Given the description of an element on the screen output the (x, y) to click on. 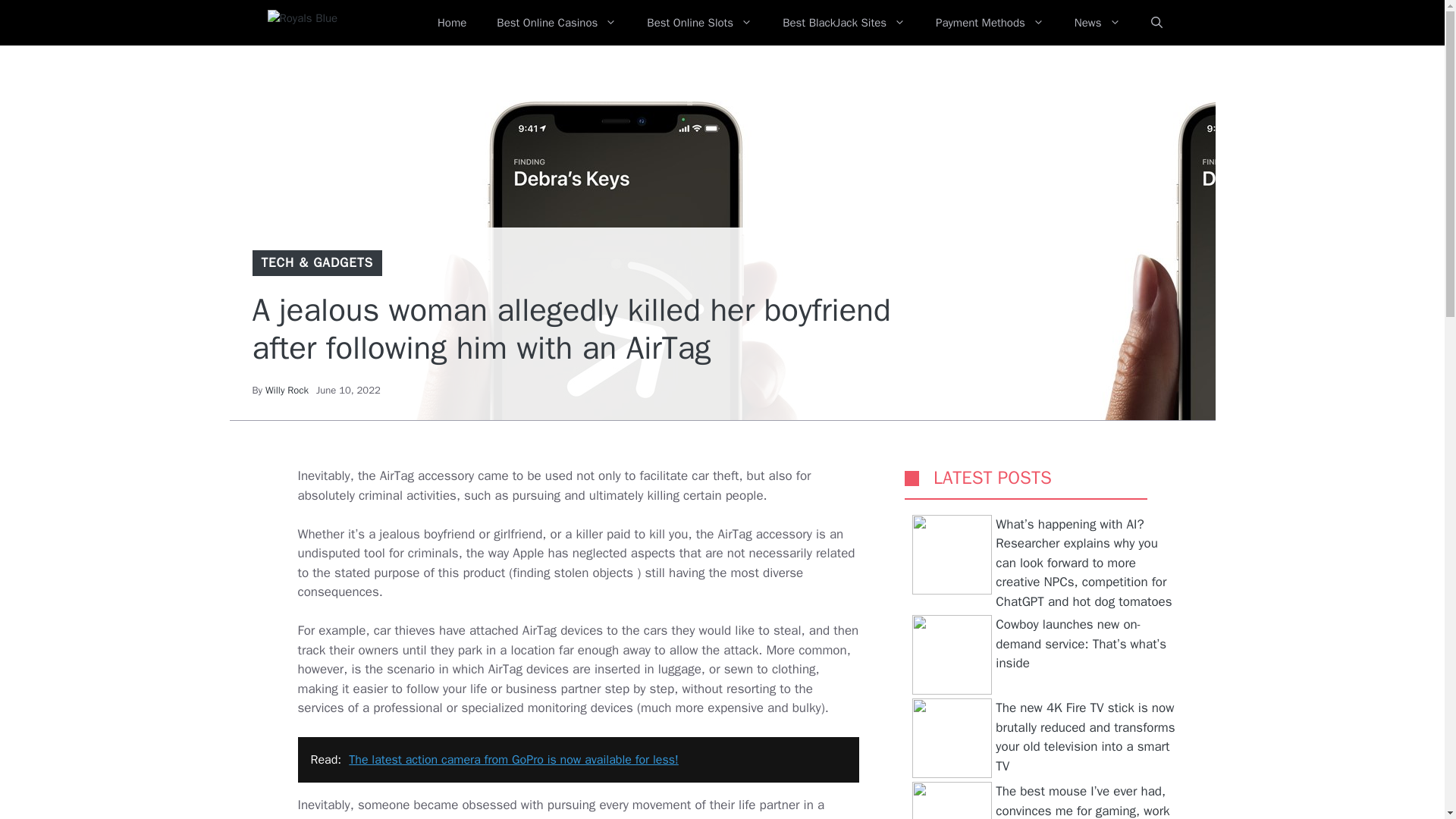
Payment Methods (989, 22)
Royals Blue (331, 22)
Home (451, 22)
SORRY, YOUR BROWSER DOES NOT SUPPORT INLINE SVG. (911, 477)
Best Online Casinos (556, 22)
Best BlackJack Sites (843, 22)
Best Online Slots (699, 22)
News (1097, 22)
Willy Rock (286, 390)
